Given the description of an element on the screen output the (x, y) to click on. 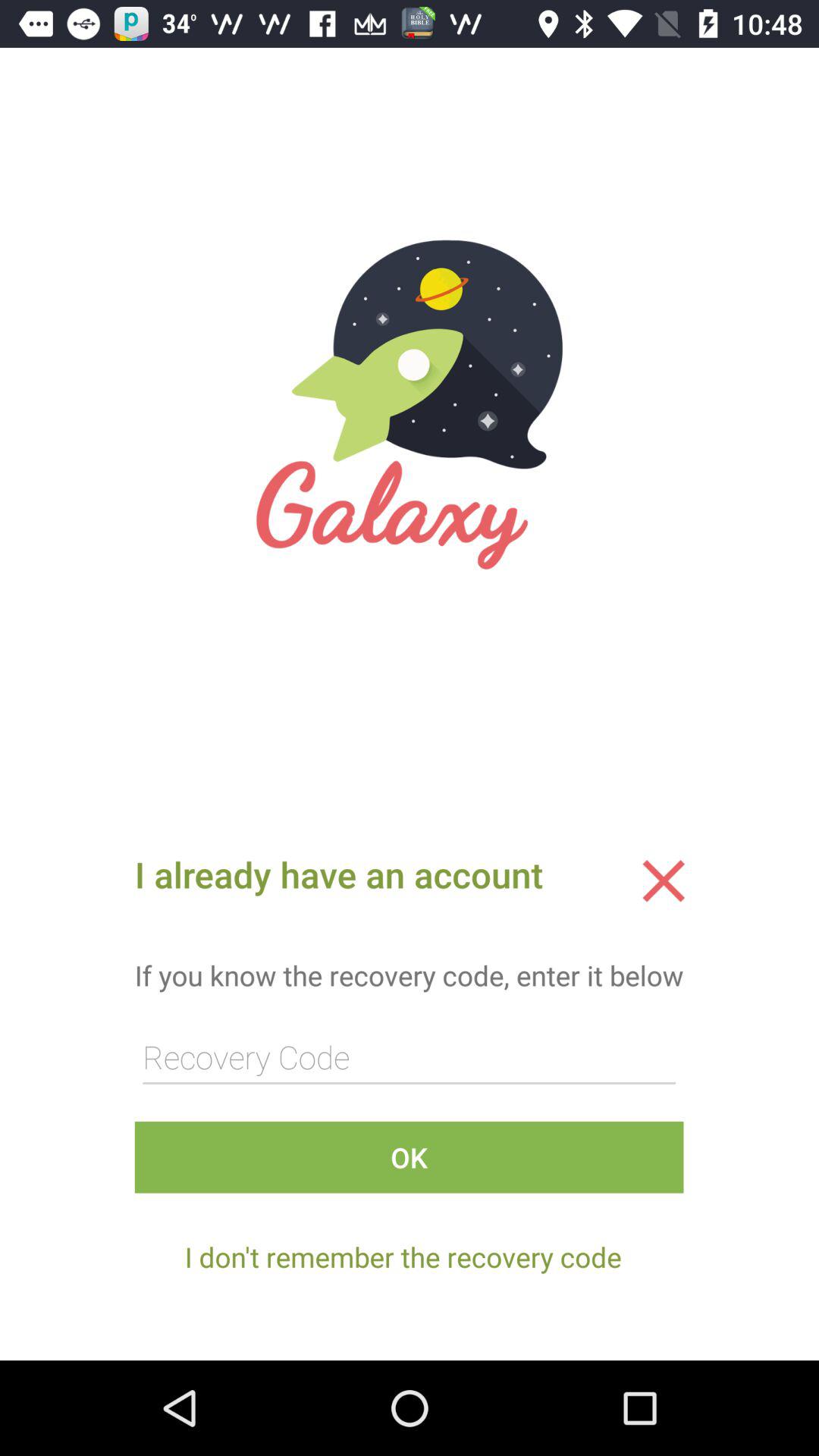
flip to i don t icon (402, 1256)
